Given the description of an element on the screen output the (x, y) to click on. 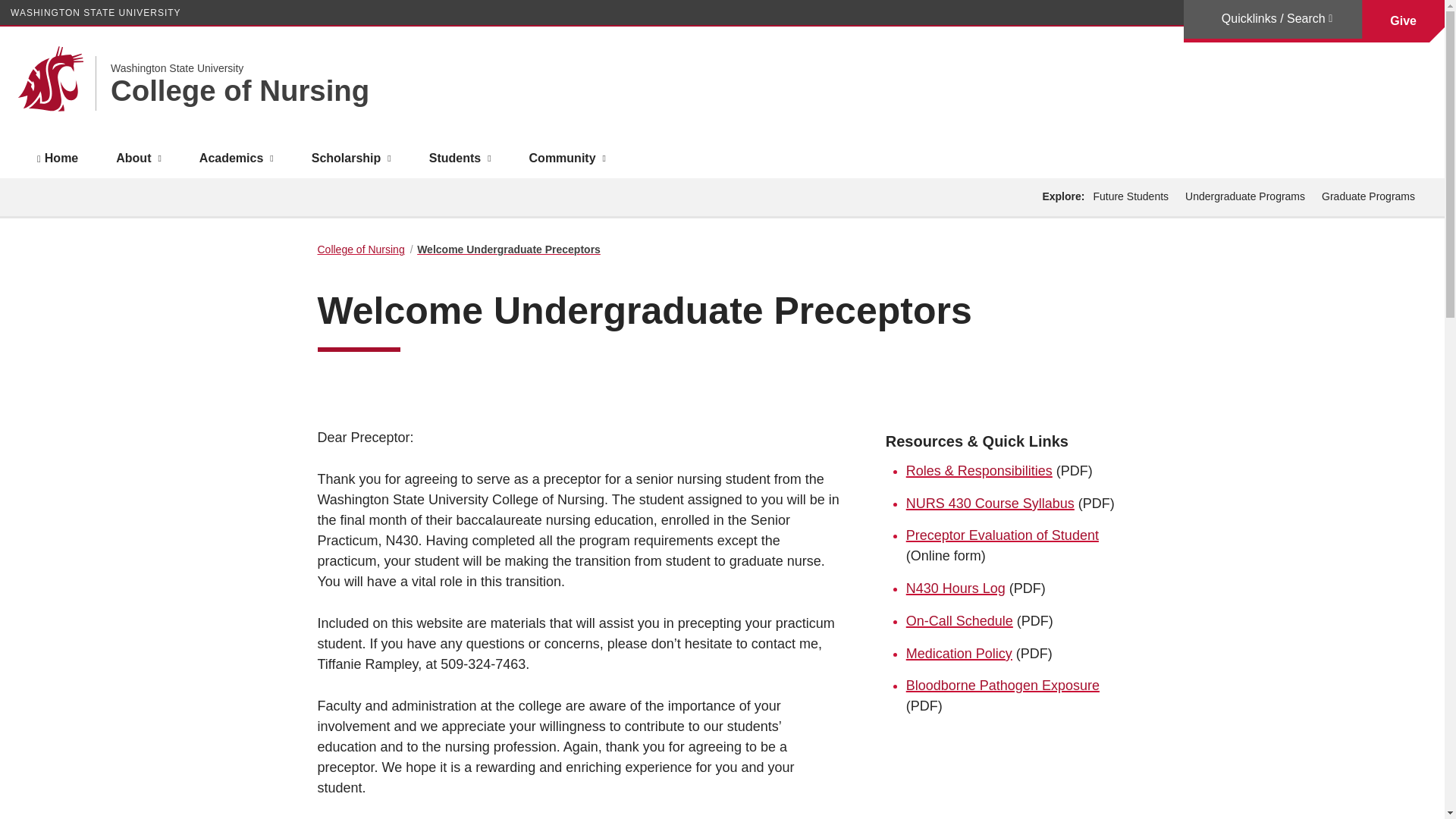
WASHINGTON STATE UNIVERSITY (96, 12)
Go to Welcome Undergraduate Preceptors. (507, 249)
Go to College of Nursing. (360, 249)
